Given the description of an element on the screen output the (x, y) to click on. 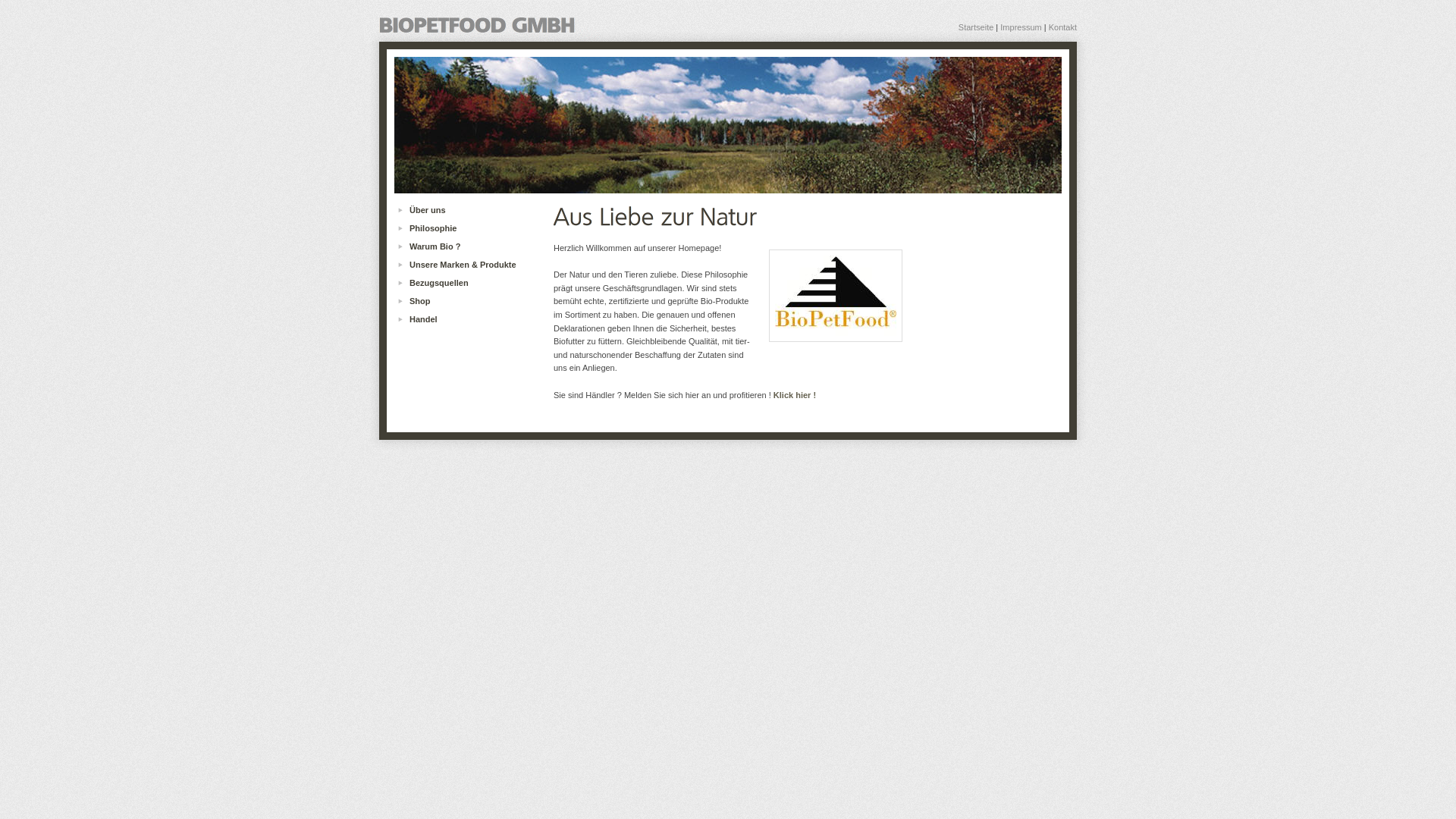
Handel Element type: text (470, 319)
Unsere Marken & Produkte Element type: text (470, 264)
Bezugsquellen Element type: text (470, 282)
Philosophie Element type: text (470, 228)
Warum Bio ? Element type: text (470, 246)
Startseite Element type: text (975, 26)
Impressum Element type: text (1020, 26)
Kontakt Element type: text (1062, 26)
Shop Element type: text (470, 300)
Klick hier ! Element type: text (794, 394)
